Given the description of an element on the screen output the (x, y) to click on. 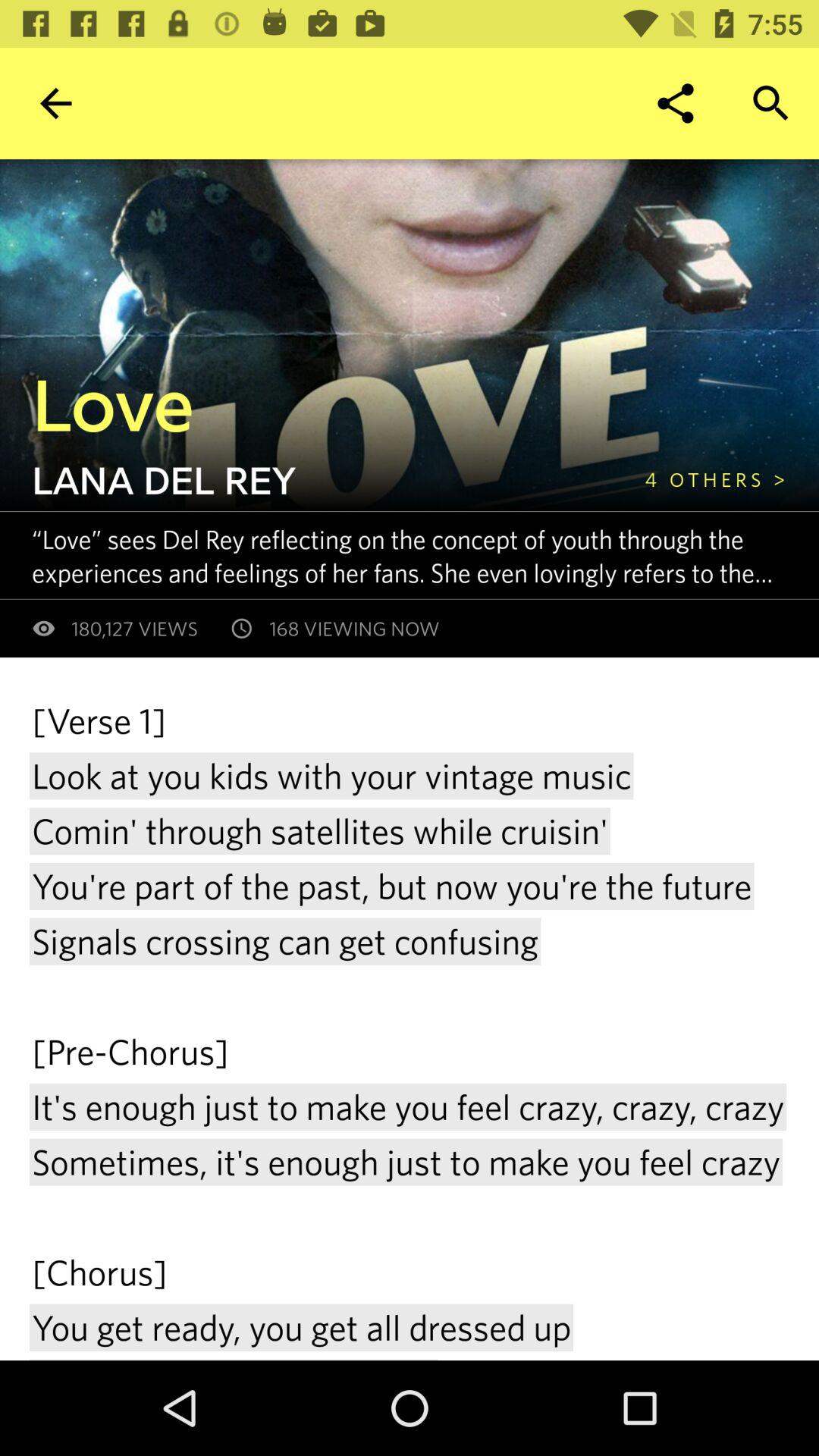
scroll to the verse 1 look (409, 1028)
